Given the description of an element on the screen output the (x, y) to click on. 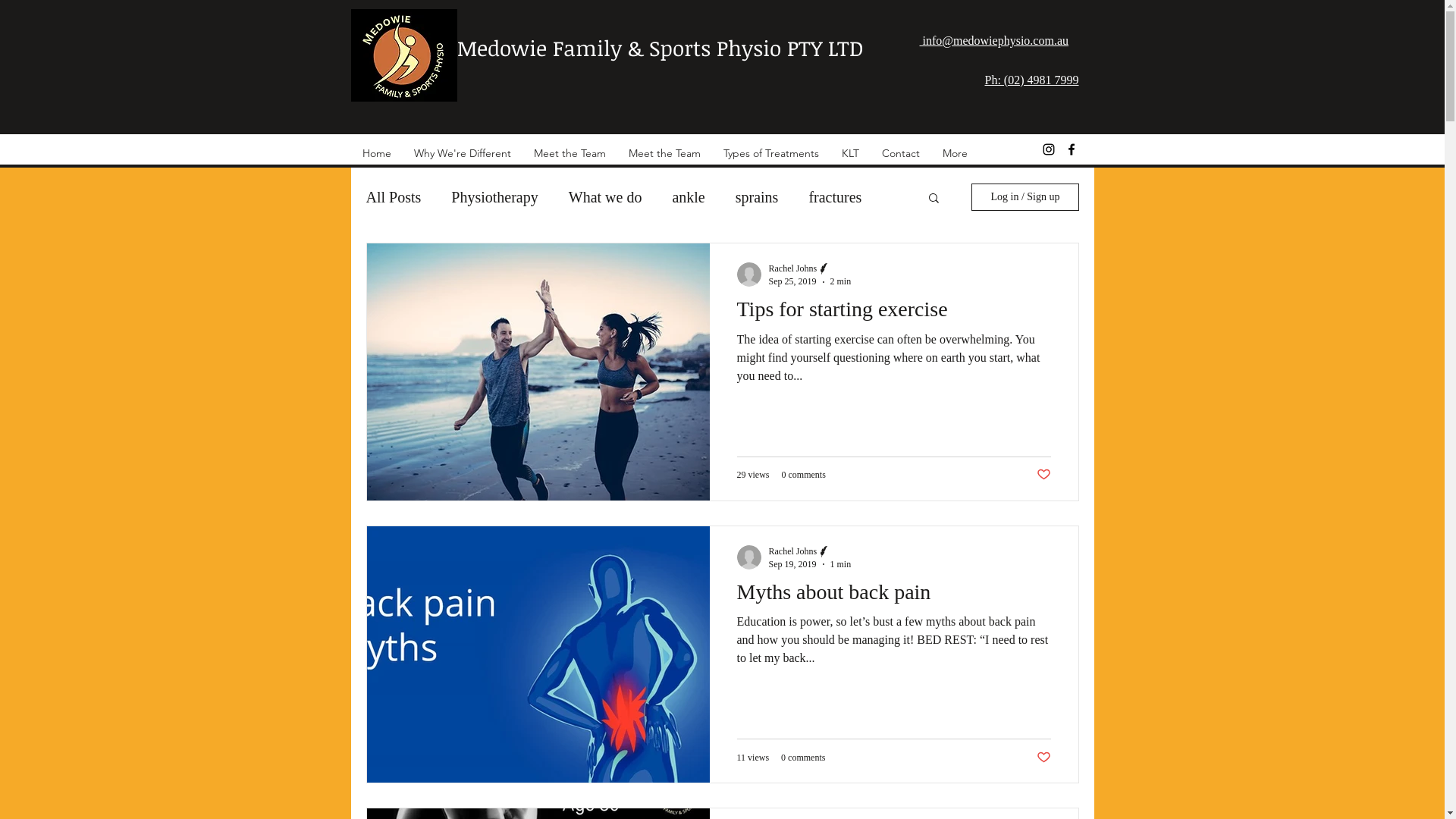
 info@medowiephysio.com.au Element type: text (993, 40)
fractures Element type: text (834, 196)
Types of Treatments Element type: text (770, 152)
Meet the Team Element type: text (664, 152)
Ph: (02) 4981 7999 Element type: text (1031, 79)
Physiotherapy Element type: text (494, 196)
0 comments Element type: text (803, 474)
Myths about back pain Element type: text (894, 596)
What we do Element type: text (605, 196)
KLT Element type: text (849, 152)
Tips for starting exercise Element type: text (894, 313)
Log in / Sign up Element type: text (1024, 196)
sprains Element type: text (756, 196)
Contact Element type: text (900, 152)
Meet the Team Element type: text (568, 152)
Home Element type: text (375, 152)
Post not marked as liked Element type: text (1042, 475)
ankle Element type: text (687, 196)
All Posts Element type: text (392, 196)
Post not marked as liked Element type: text (1042, 757)
Why We're Different Element type: text (461, 152)
0 comments Element type: text (803, 757)
